Given the description of an element on the screen output the (x, y) to click on. 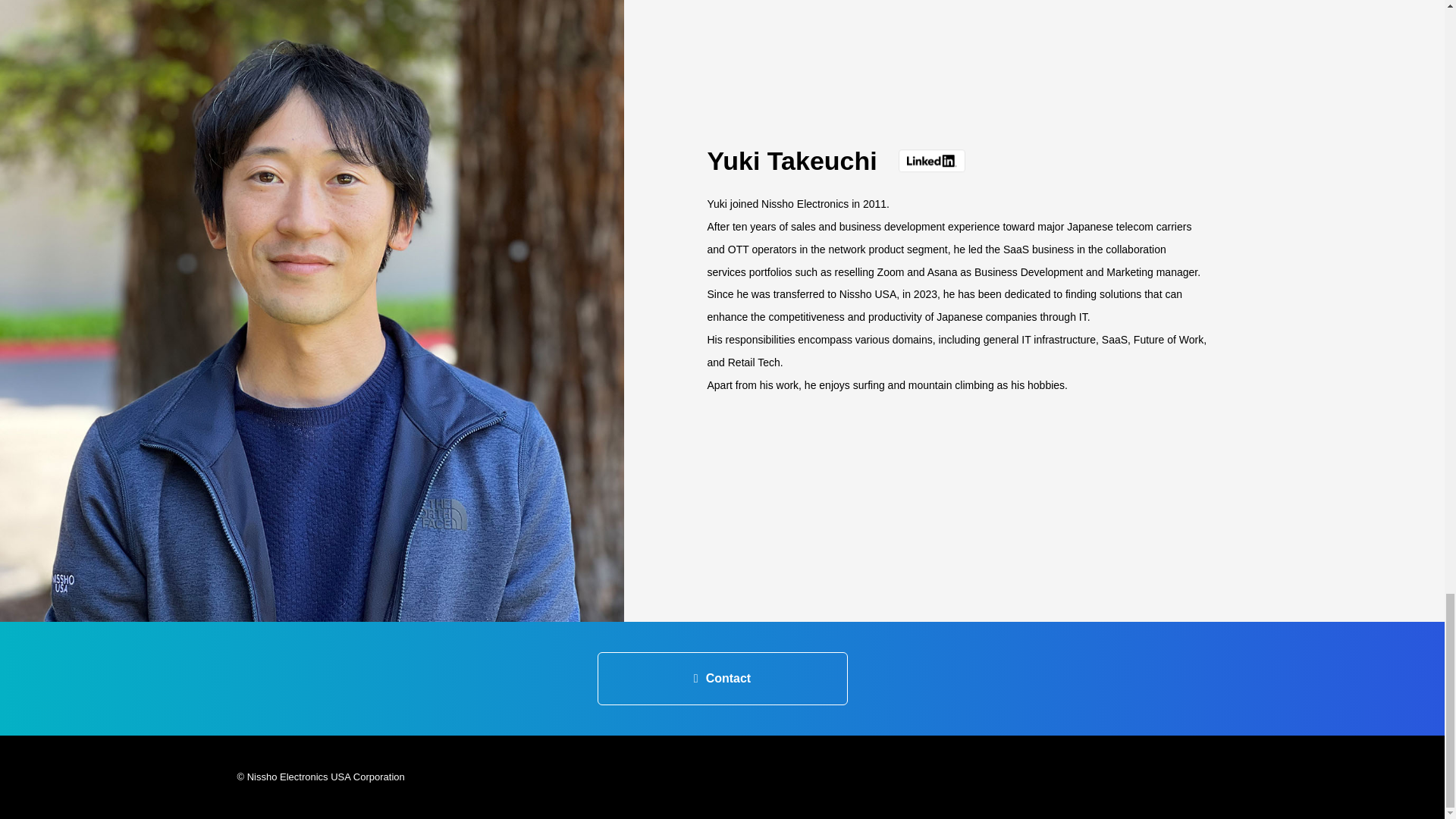
Contact (721, 678)
